Given the description of an element on the screen output the (x, y) to click on. 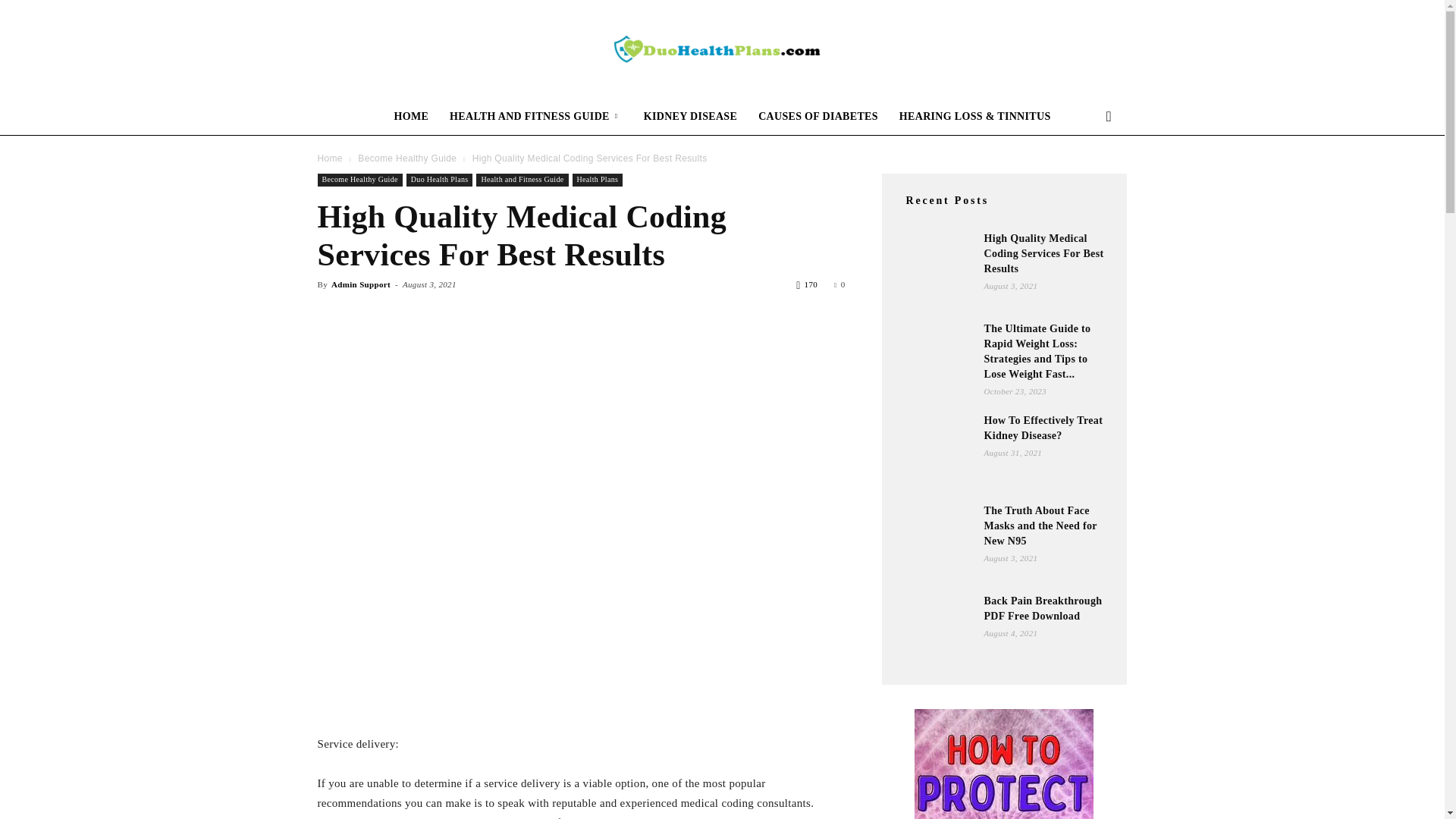
View all posts in Become Healthy Guide (407, 158)
KIDNEY DISEASE (690, 116)
HOME (410, 116)
HEALTH AND FITNESS GUIDE (536, 116)
CAUSES OF DIABETES (818, 116)
